Given the description of an element on the screen output the (x, y) to click on. 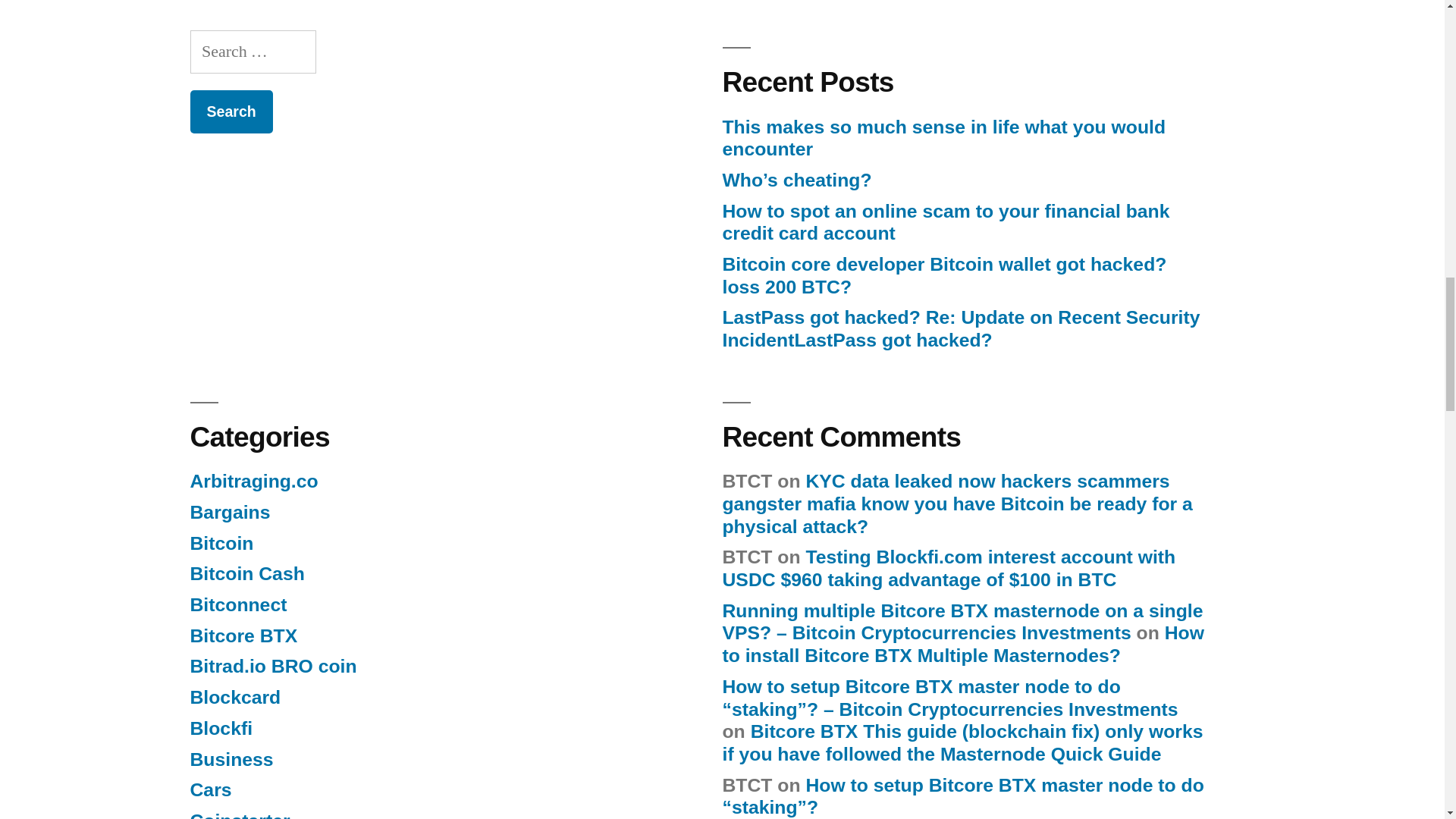
Search (230, 111)
Search (230, 111)
